Given the description of an element on the screen output the (x, y) to click on. 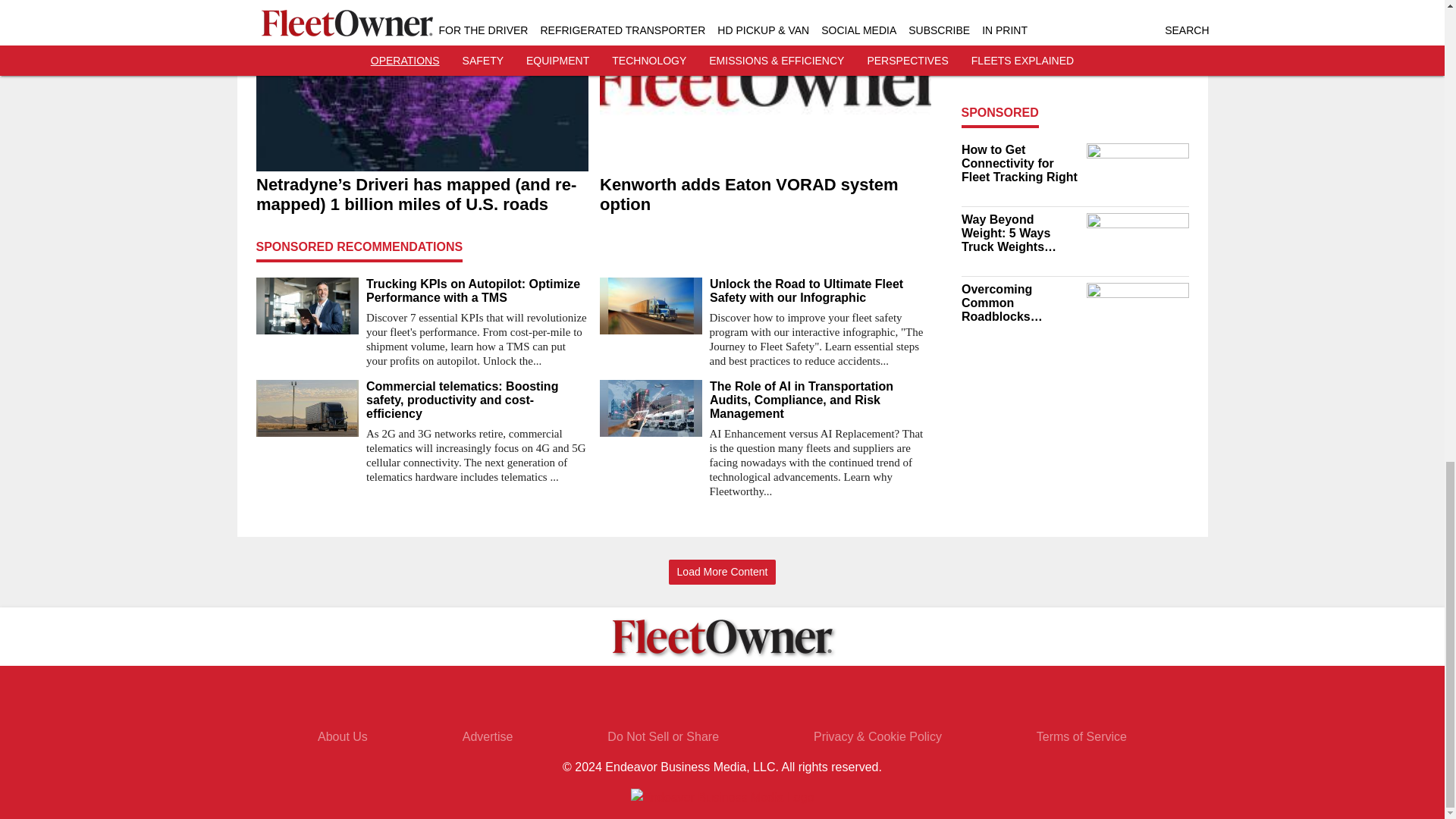
Kenworth adds Eaton VORAD system option (764, 194)
Trucking KPIs on Autopilot: Optimize Performance with a TMS (476, 290)
